Given the description of an element on the screen output the (x, y) to click on. 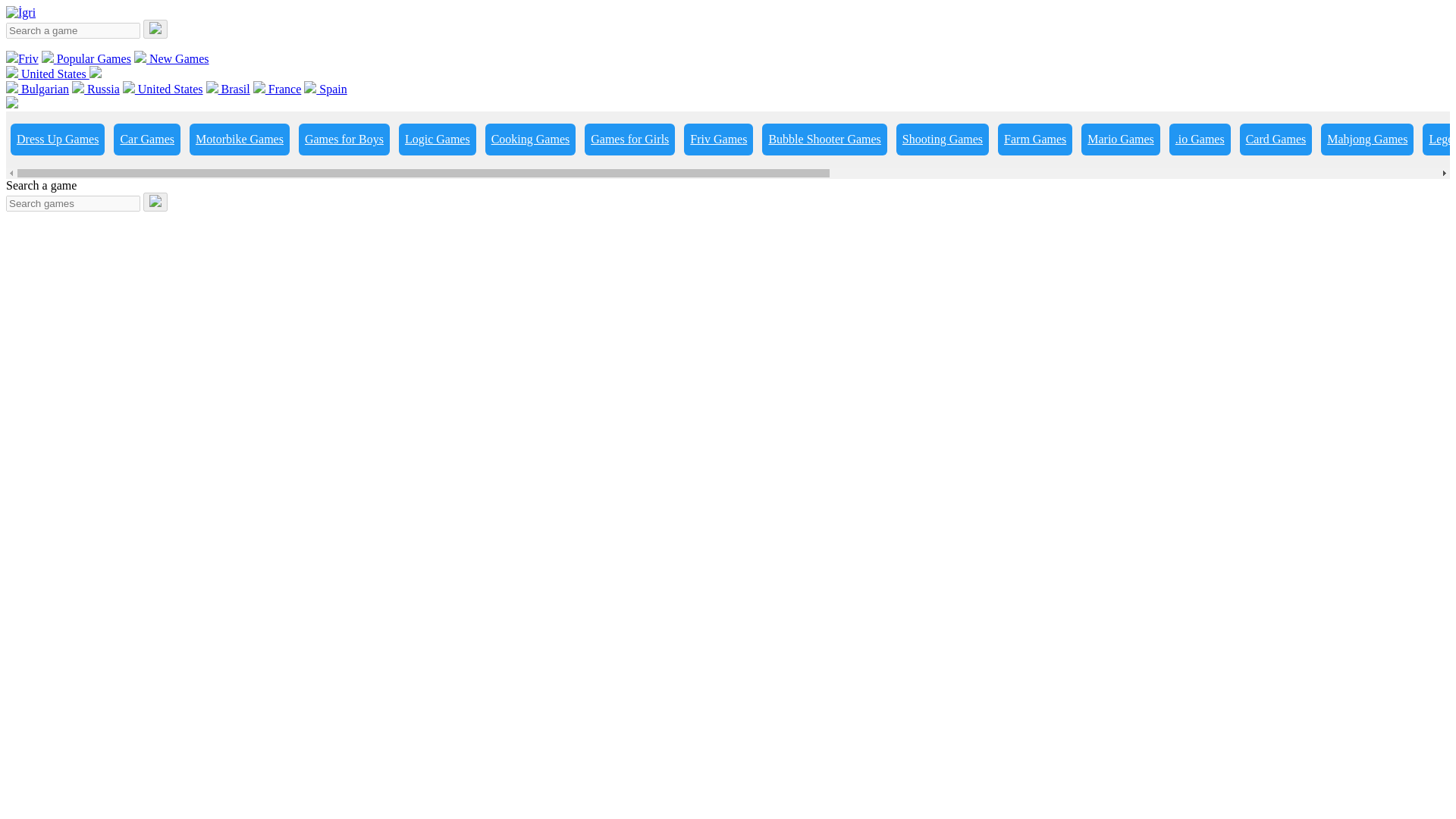
Shooting Games (942, 139)
Dress Up Games (57, 139)
Bubble Shooter Games (823, 139)
Games for Girls (630, 139)
Mahjong Games (1366, 139)
Friv Games (718, 139)
Friv Games (718, 139)
Logic Games (437, 139)
Farm Games (1034, 139)
Logic Games (437, 139)
